Given the description of an element on the screen output the (x, y) to click on. 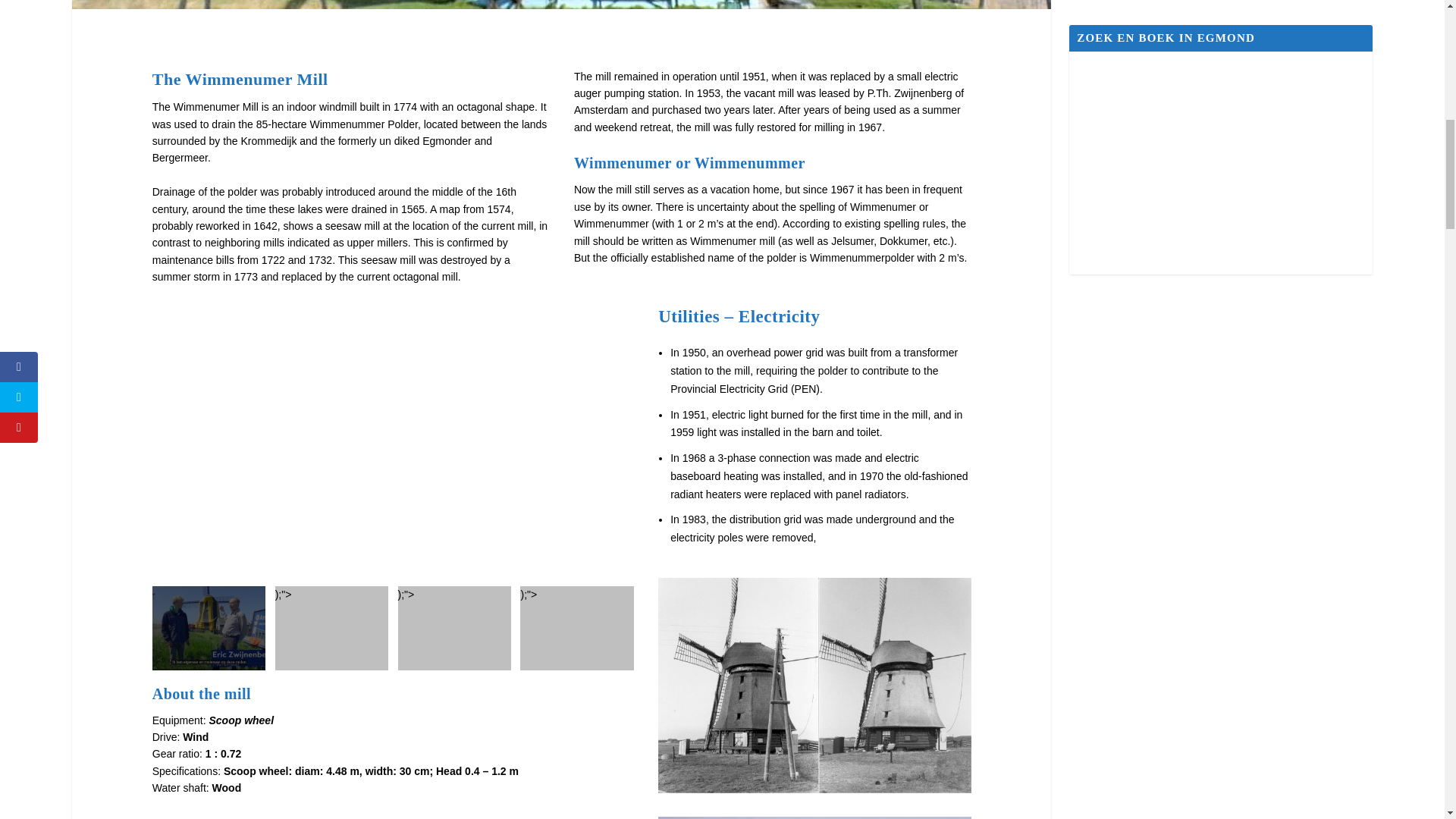
Wimmenumer Molen, begassing door Dokter Houtworm (392, 439)
Mill with and without electric poles 1983 (814, 788)
Mill with and without electric poles 1983 (814, 685)
